Given the description of an element on the screen output the (x, y) to click on. 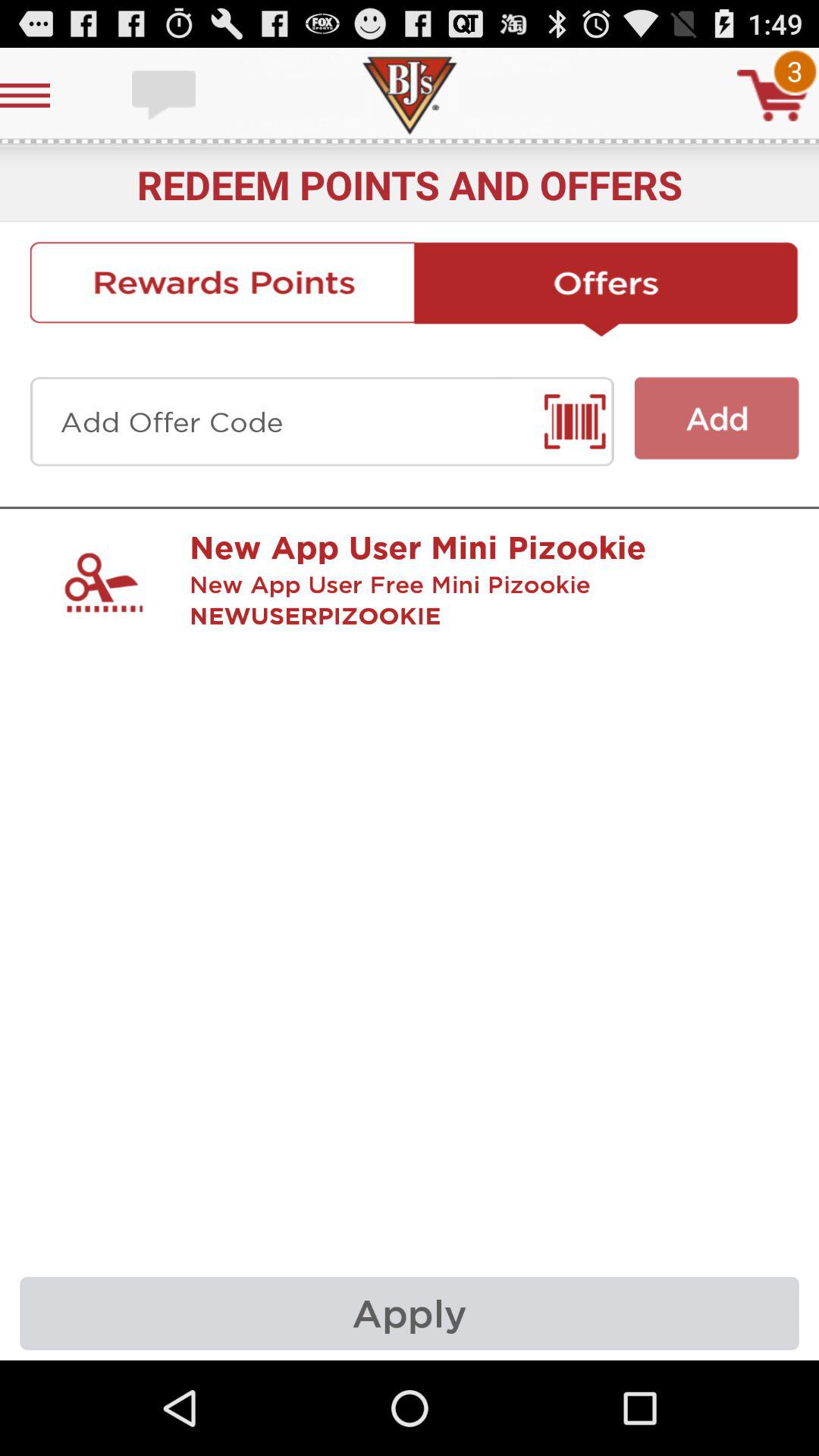
comment icon (165, 95)
